Given the description of an element on the screen output the (x, y) to click on. 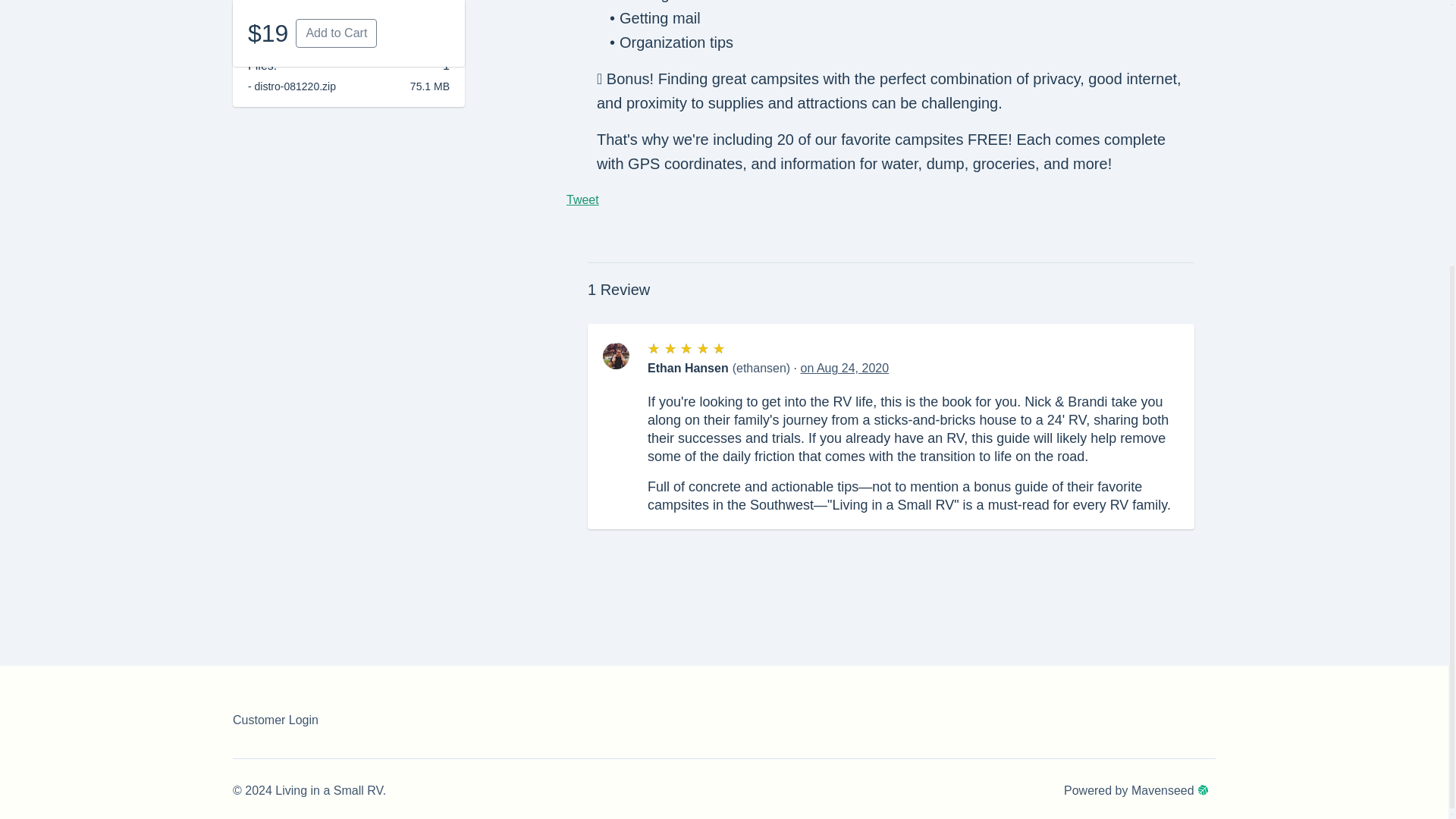
August 24, 2020 at 8:52pm  (844, 367)
on Aug 24, 2020 (844, 367)
Powered by Mavenseed (1139, 791)
Customer Login (275, 719)
Tweet (582, 199)
